Given the description of an element on the screen output the (x, y) to click on. 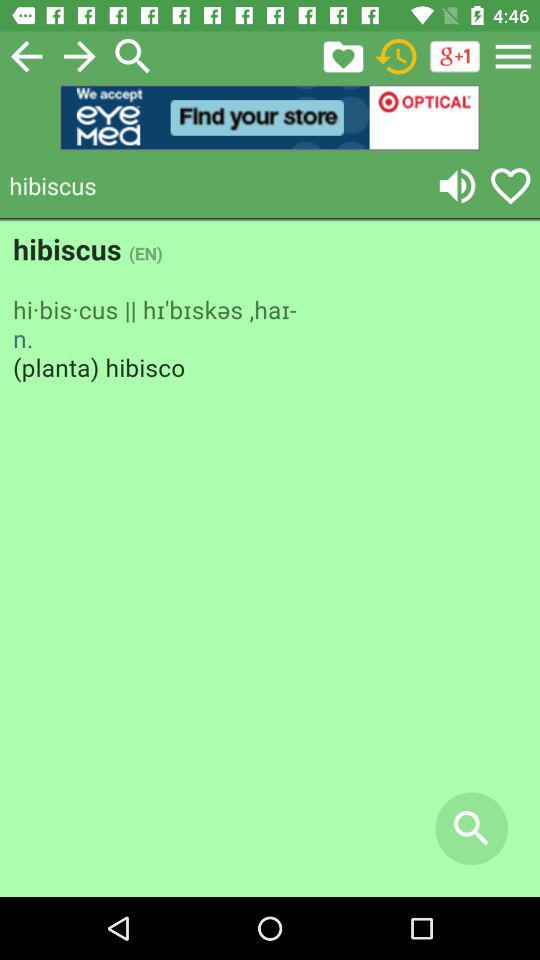
view options (513, 56)
